Given the description of an element on the screen output the (x, y) to click on. 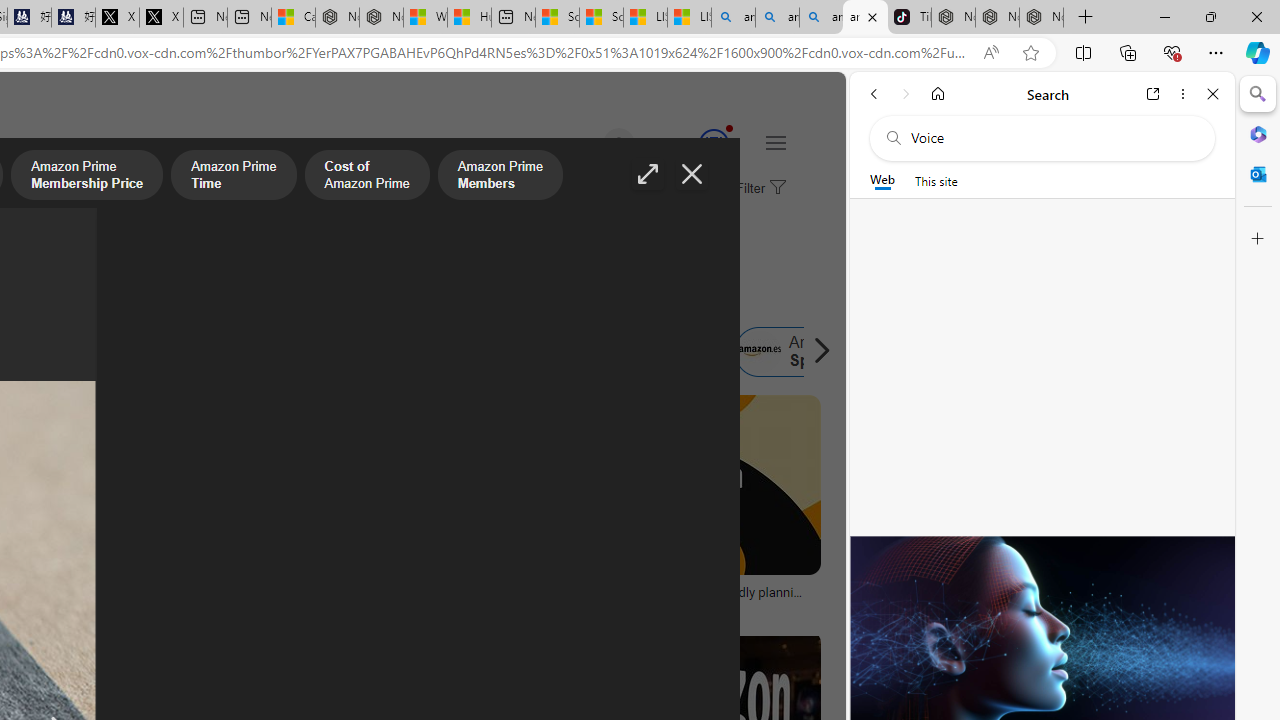
Amazon Prime Membership Price (87, 177)
Nordace - Siena Pro 15 Essential Set (1041, 17)
Amazon Shoes (618, 351)
More options (1182, 93)
Huge shark washes ashore at New York City beach | Watch (469, 17)
Amazon Prime Time (233, 177)
Outlook (1258, 174)
Microsoft 365 (1258, 133)
amazon - Search (777, 17)
Amazon.com.au (270, 351)
